Given the description of an element on the screen output the (x, y) to click on. 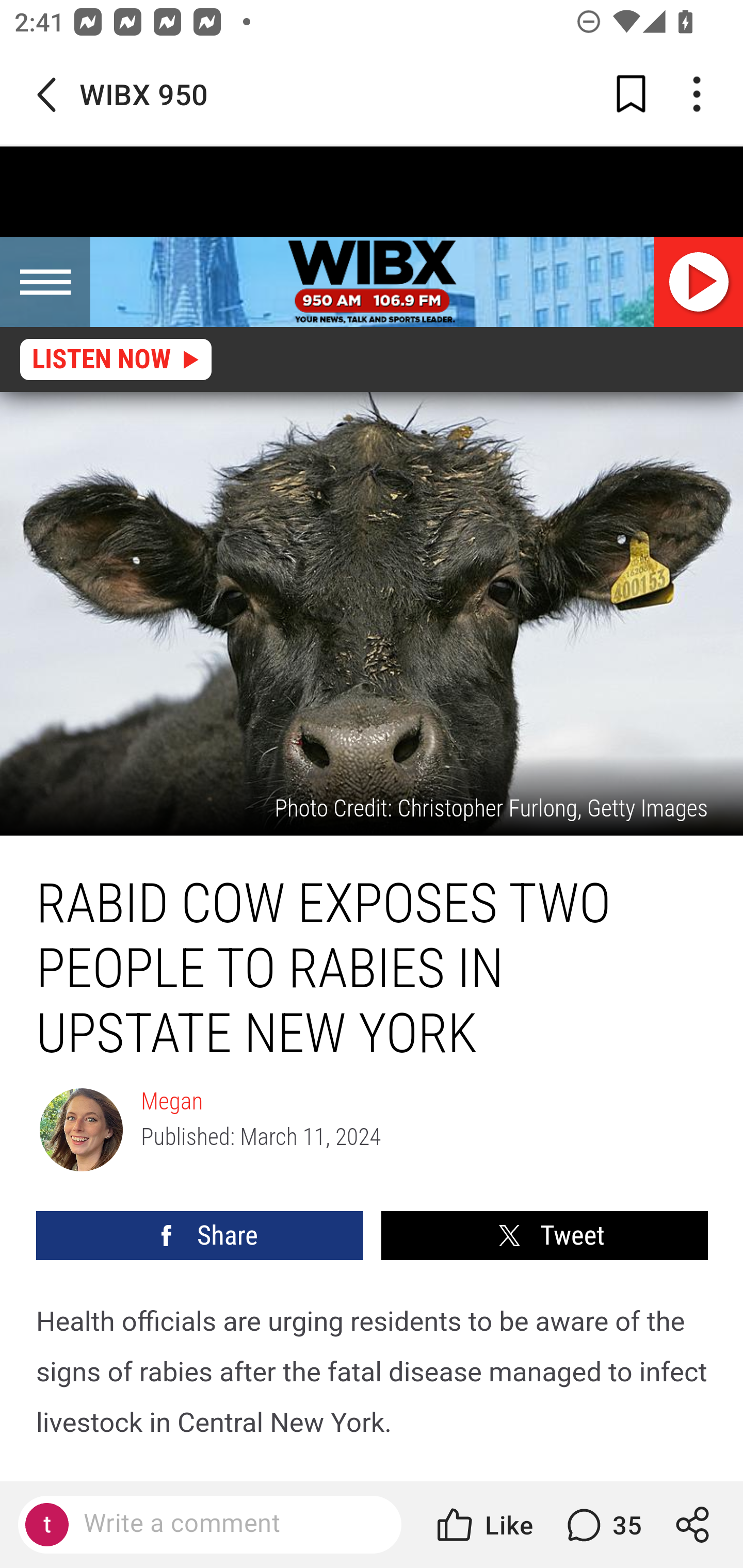
Like (483, 1524)
35 (601, 1524)
Write a comment (226, 1523)
